Given the description of an element on the screen output the (x, y) to click on. 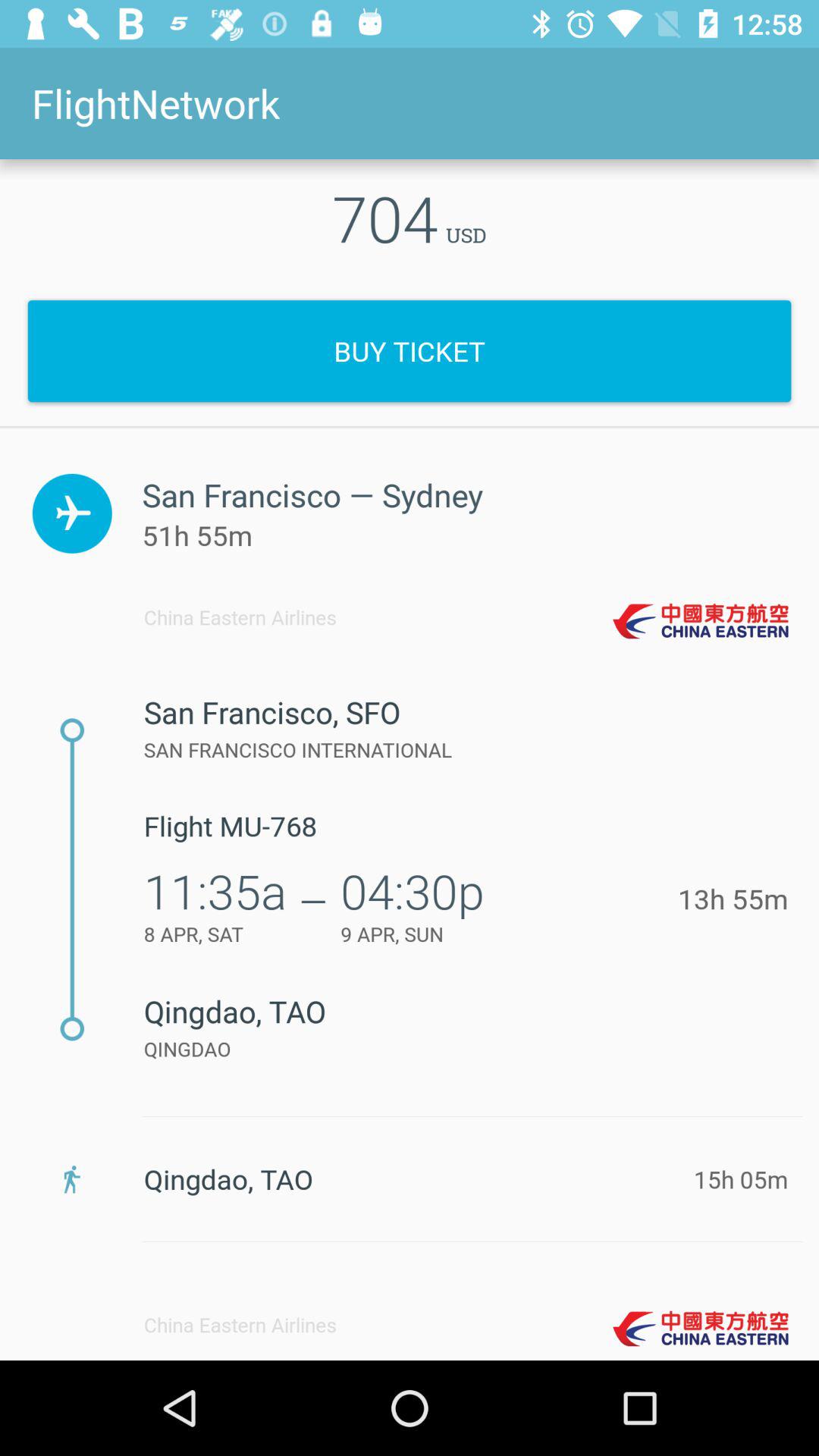
swipe to buy ticket (409, 351)
